Given the description of an element on the screen output the (x, y) to click on. 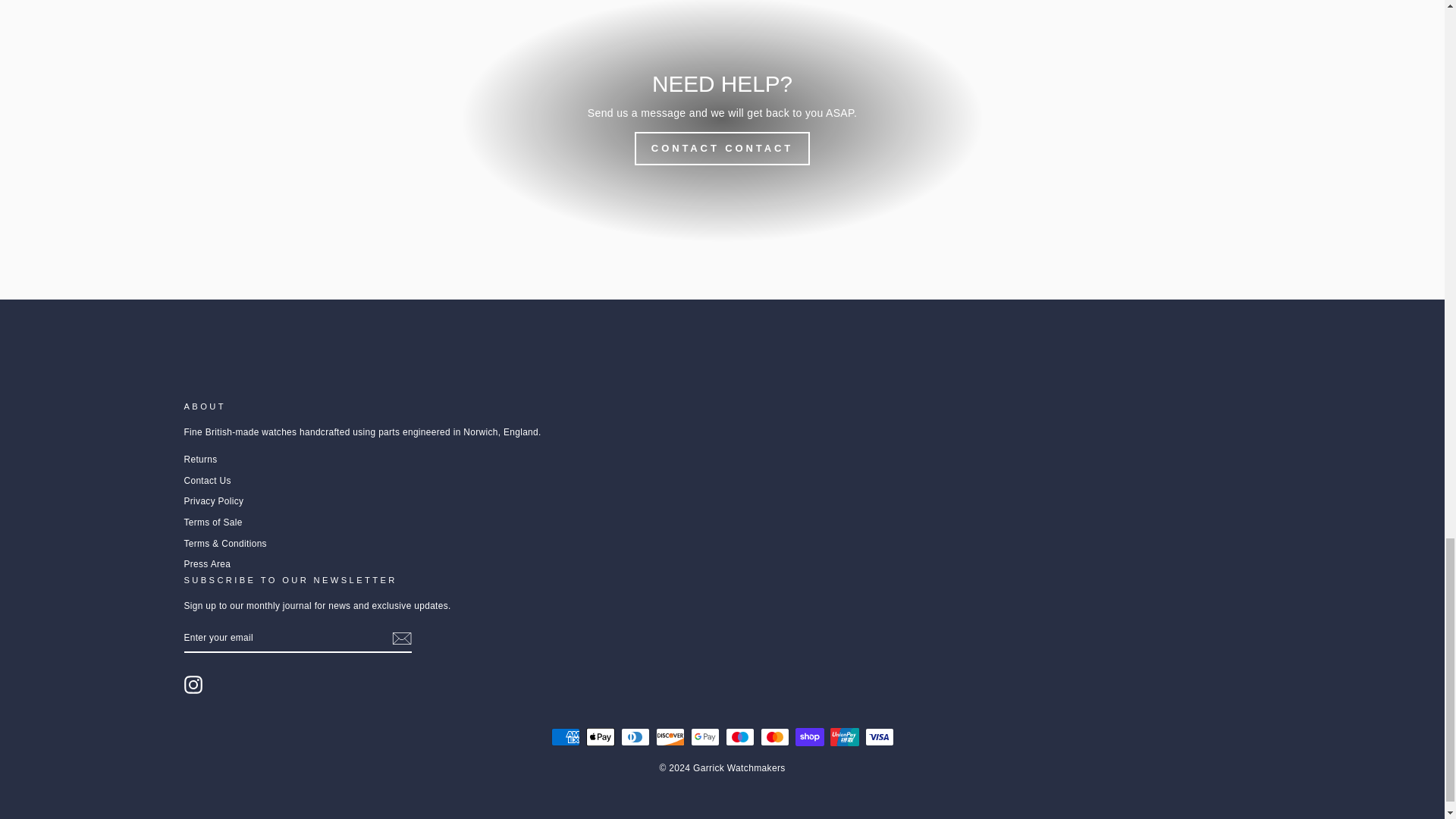
Mastercard (774, 737)
Diners Club (634, 737)
Maestro (739, 737)
instagram (192, 684)
Google Pay (704, 737)
Apple Pay (599, 737)
Garrick Watchmakers on Instagram (192, 684)
American Express (564, 737)
Shop Pay (809, 737)
Union Pay (844, 737)
